Given the description of an element on the screen output the (x, y) to click on. 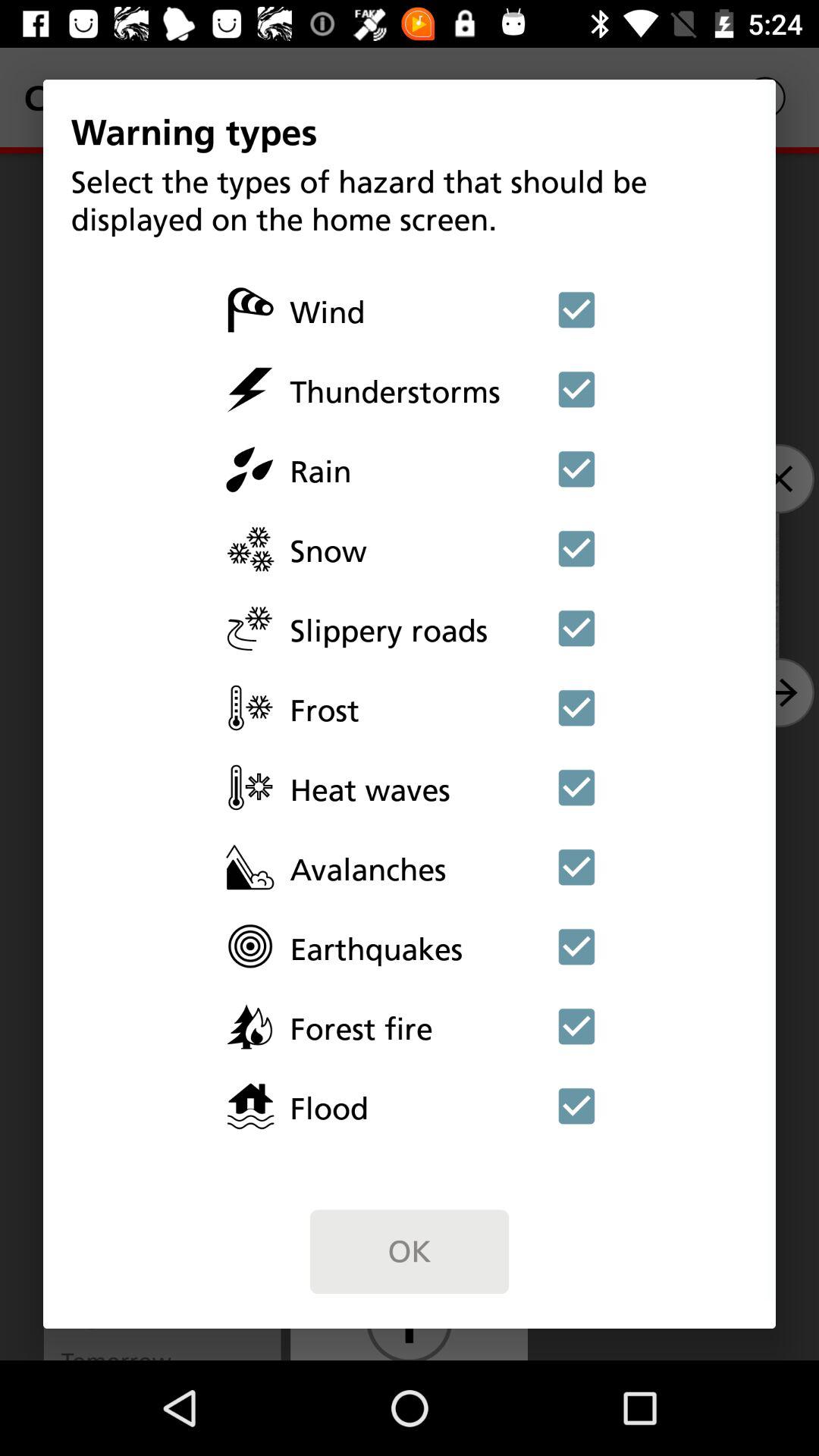
select icon option (576, 389)
